Given the description of an element on the screen output the (x, y) to click on. 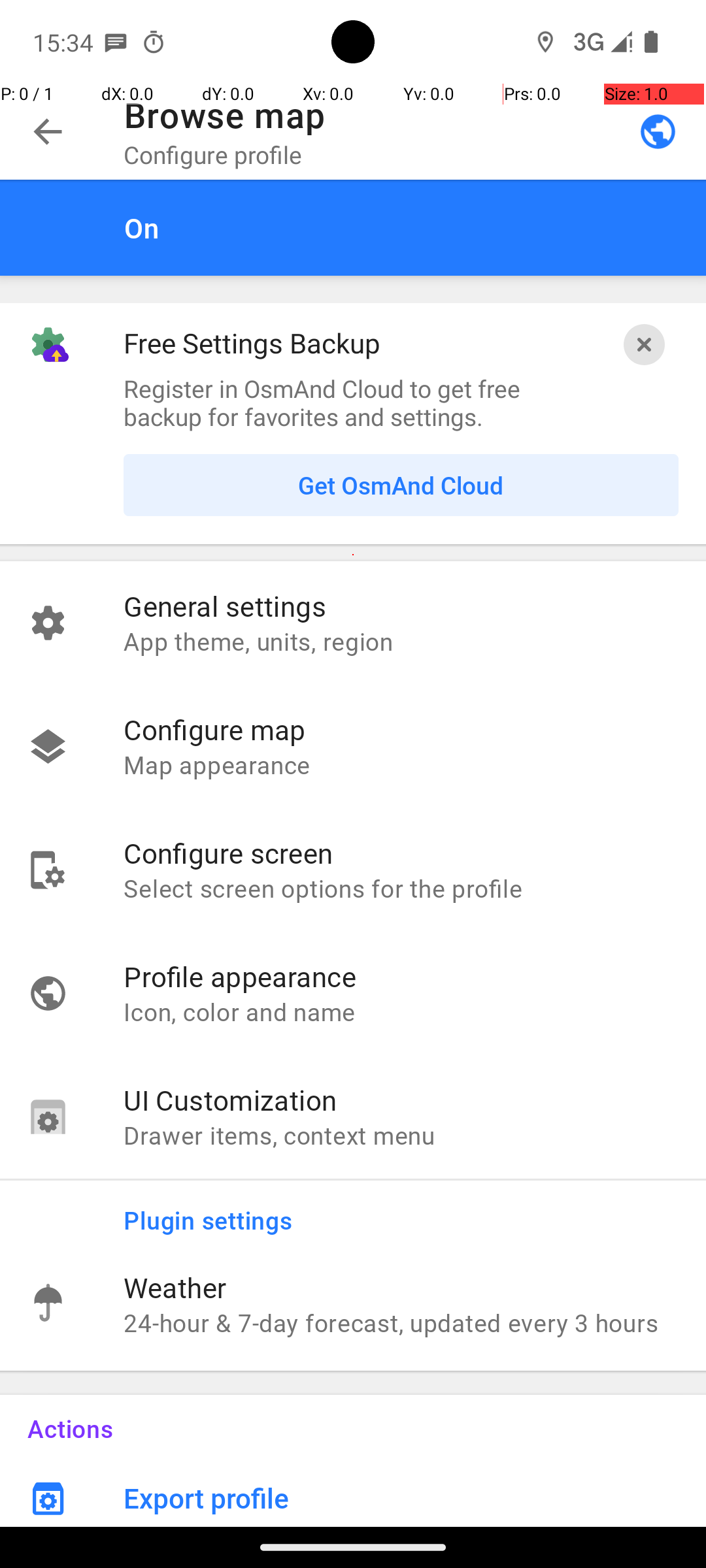
App profile type Element type: android.widget.ImageView (657, 131)
Free Settings Backup Element type: android.widget.TextView (252, 342)
Register in OsmAnd Cloud to get free backup for favorites and settings. Element type: android.widget.TextView (352, 402)
General settings Element type: android.widget.TextView (400, 605)
App theme, units, region Element type: android.widget.TextView (400, 640)
Map appearance Element type: android.widget.TextView (400, 764)
Configure screen Element type: android.widget.TextView (400, 852)
Select screen options for the profile Element type: android.widget.TextView (400, 887)
Profile appearance Element type: android.widget.TextView (400, 976)
Icon, color and name Element type: android.widget.TextView (400, 1011)
UI Customization Element type: android.widget.TextView (400, 1099)
Drawer items, context menu Element type: android.widget.TextView (400, 1134)
Plugin settings Element type: android.widget.TextView (414, 1211)
Weather Element type: android.widget.TextView (400, 1287)
24-hour & 7-day forecast, updated every 3 hours Element type: android.widget.TextView (400, 1322)
Export profile Element type: android.widget.TextView (414, 1491)
Get OsmAnd Cloud Element type: android.widget.TextView (400, 485)
SMS Messenger notification: +17247648679 Element type: android.widget.ImageView (115, 41)
